Given the description of an element on the screen output the (x, y) to click on. 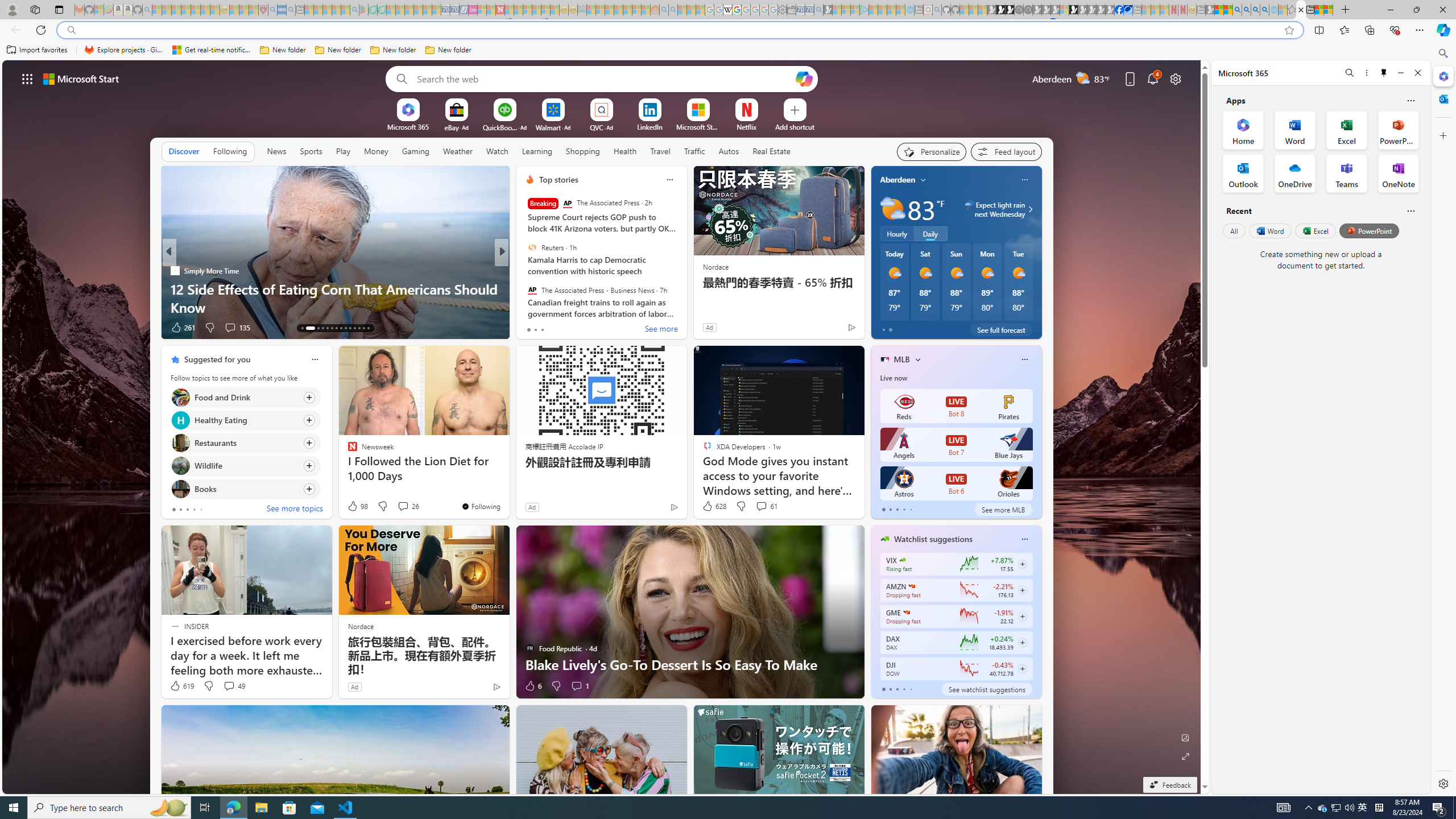
Partly sunny (892, 208)
Partly sunny (892, 208)
Target page - Wikipedia (726, 9)
Home Office App (1243, 129)
Nordace | Facebook (1118, 9)
View comments 84 Comment (580, 327)
Class: weather-arrow-glyph (1029, 208)
